Given the description of an element on the screen output the (x, y) to click on. 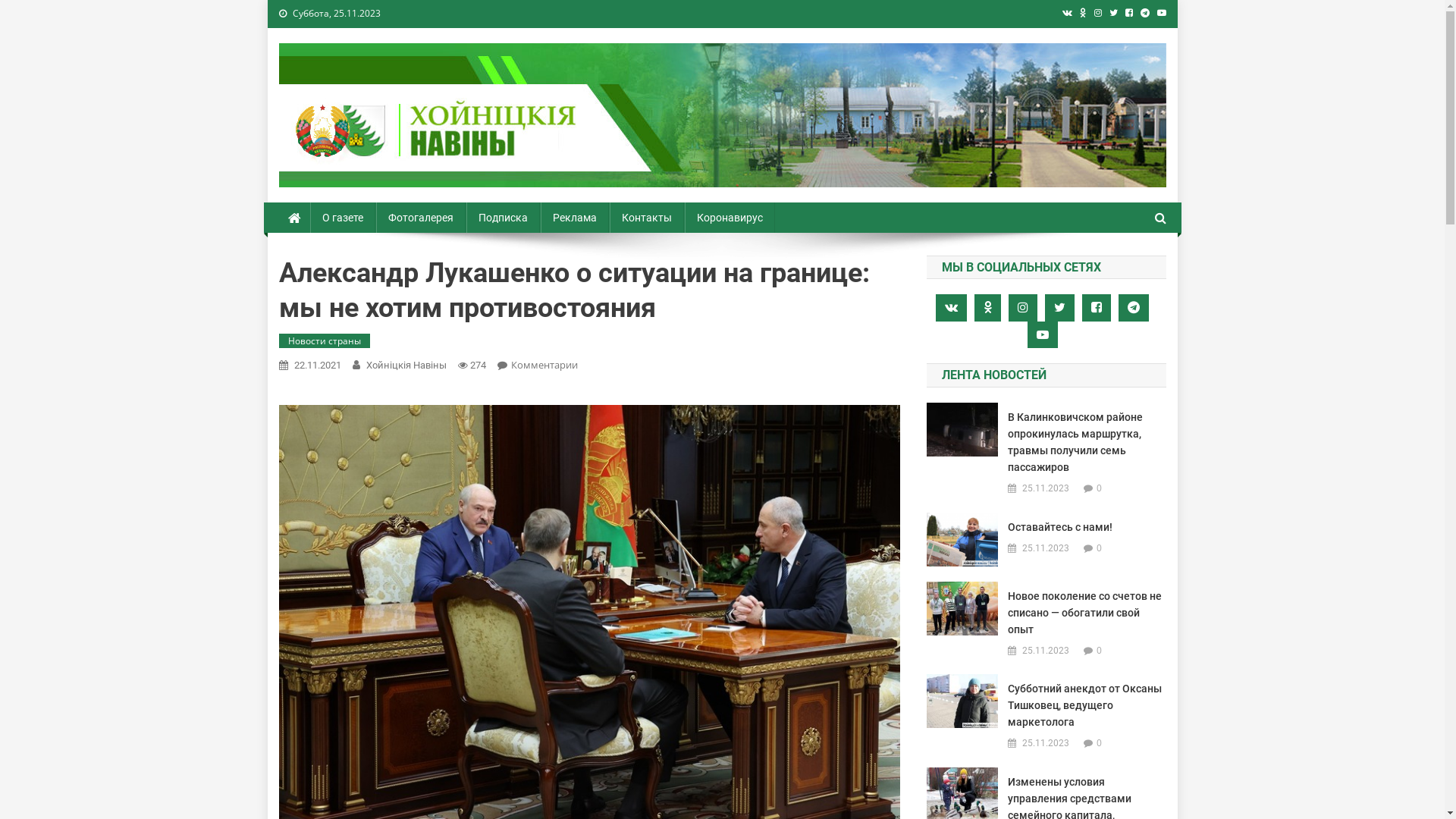
0 Element type: text (1098, 547)
22.11.2021 Element type: text (317, 364)
0 Element type: text (1098, 742)
25.11.2023 Element type: text (1045, 650)
25.11.2023 Element type: text (1045, 743)
25.11.2023 Element type: text (1045, 548)
0 Element type: text (1098, 487)
0 Element type: text (1098, 650)
25.11.2023 Element type: text (1045, 488)
